Given the description of an element on the screen output the (x, y) to click on. 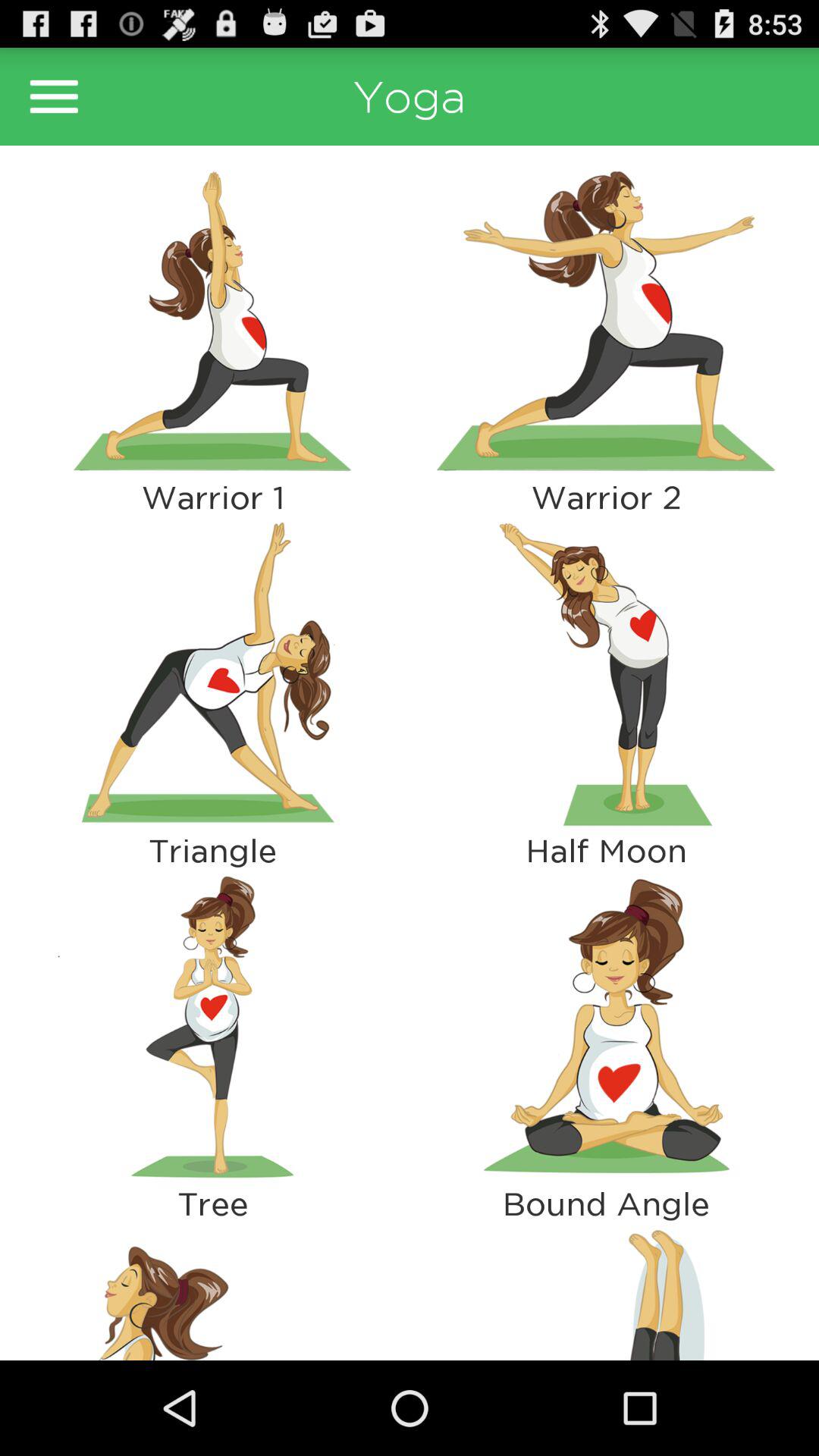
launch app to the left of warrior 2 (212, 673)
